Given the description of an element on the screen output the (x, y) to click on. 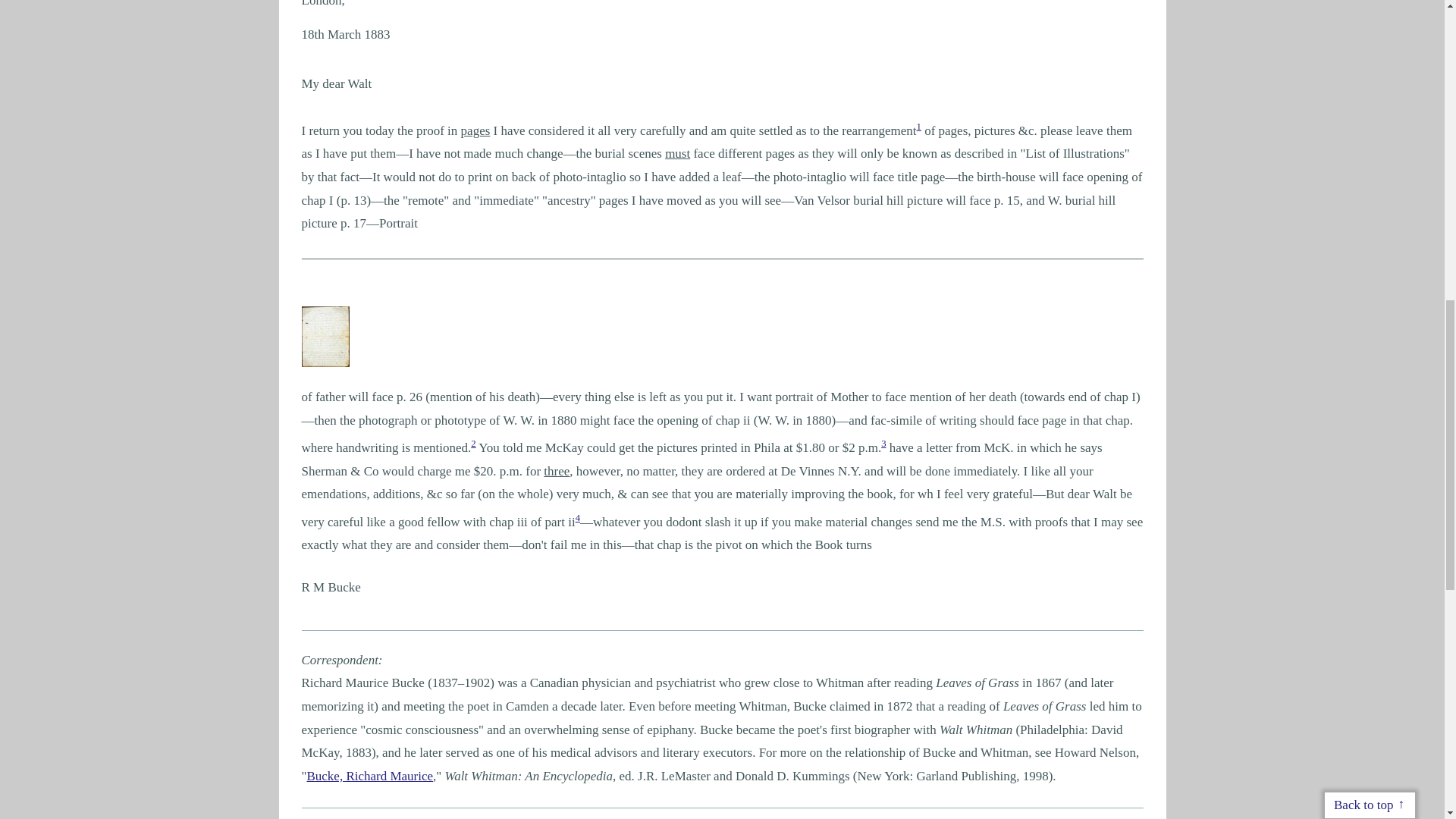
Bucke, Richard Maurice (368, 775)
